Given the description of an element on the screen output the (x, y) to click on. 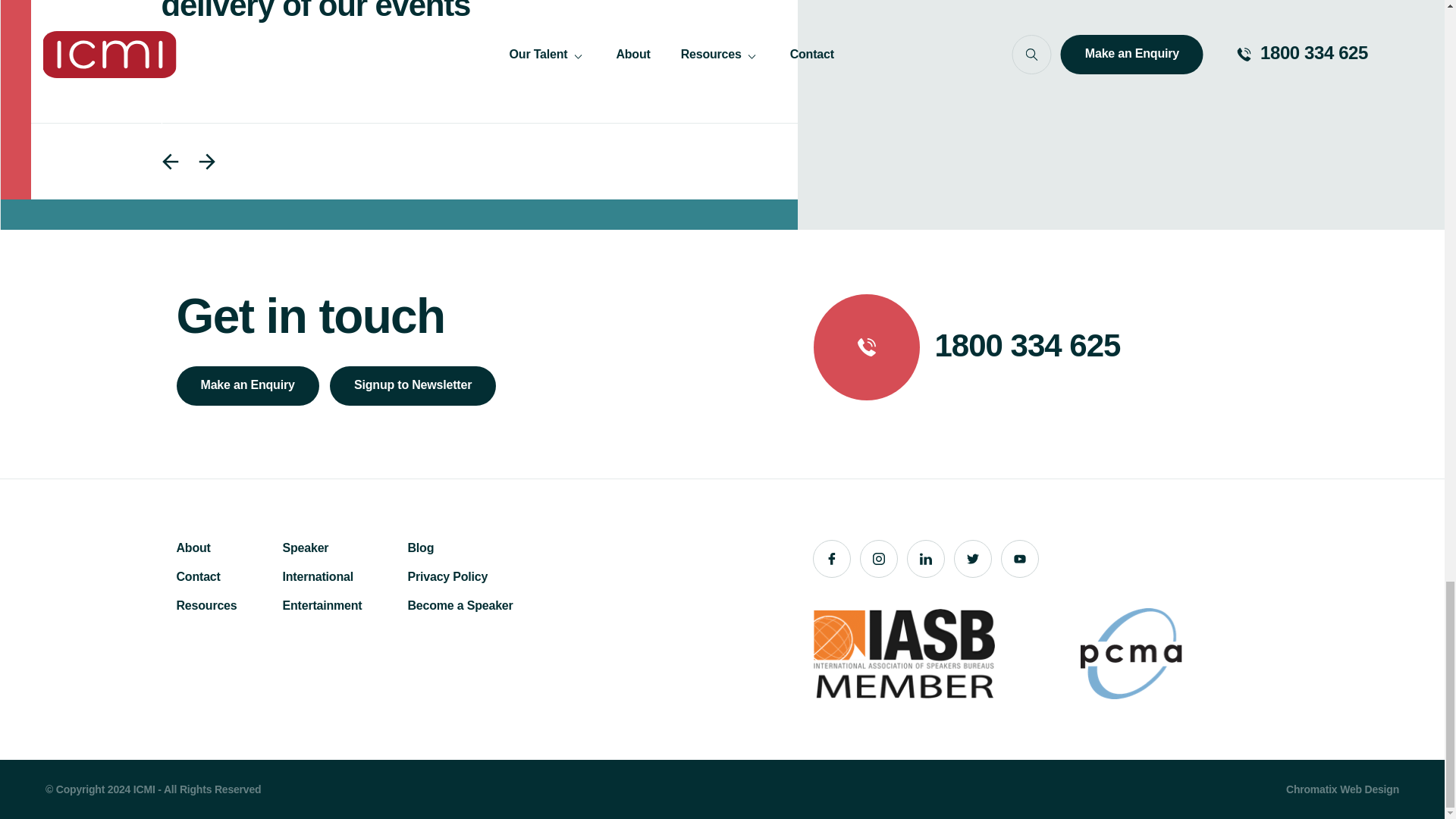
IASB Logo (903, 653)
PCMA Logo (1132, 653)
